Given the description of an element on the screen output the (x, y) to click on. 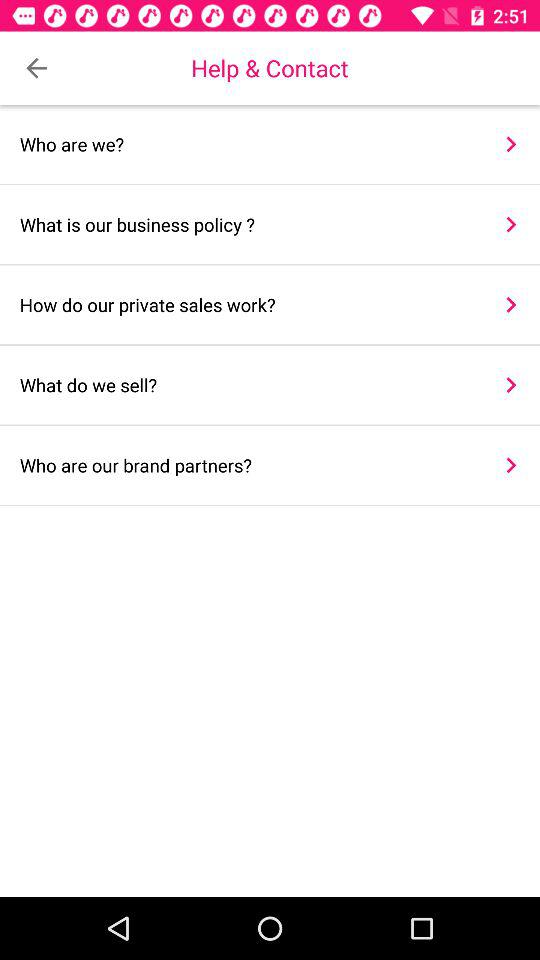
click the icon below what is our item (247, 304)
